Given the description of an element on the screen output the (x, y) to click on. 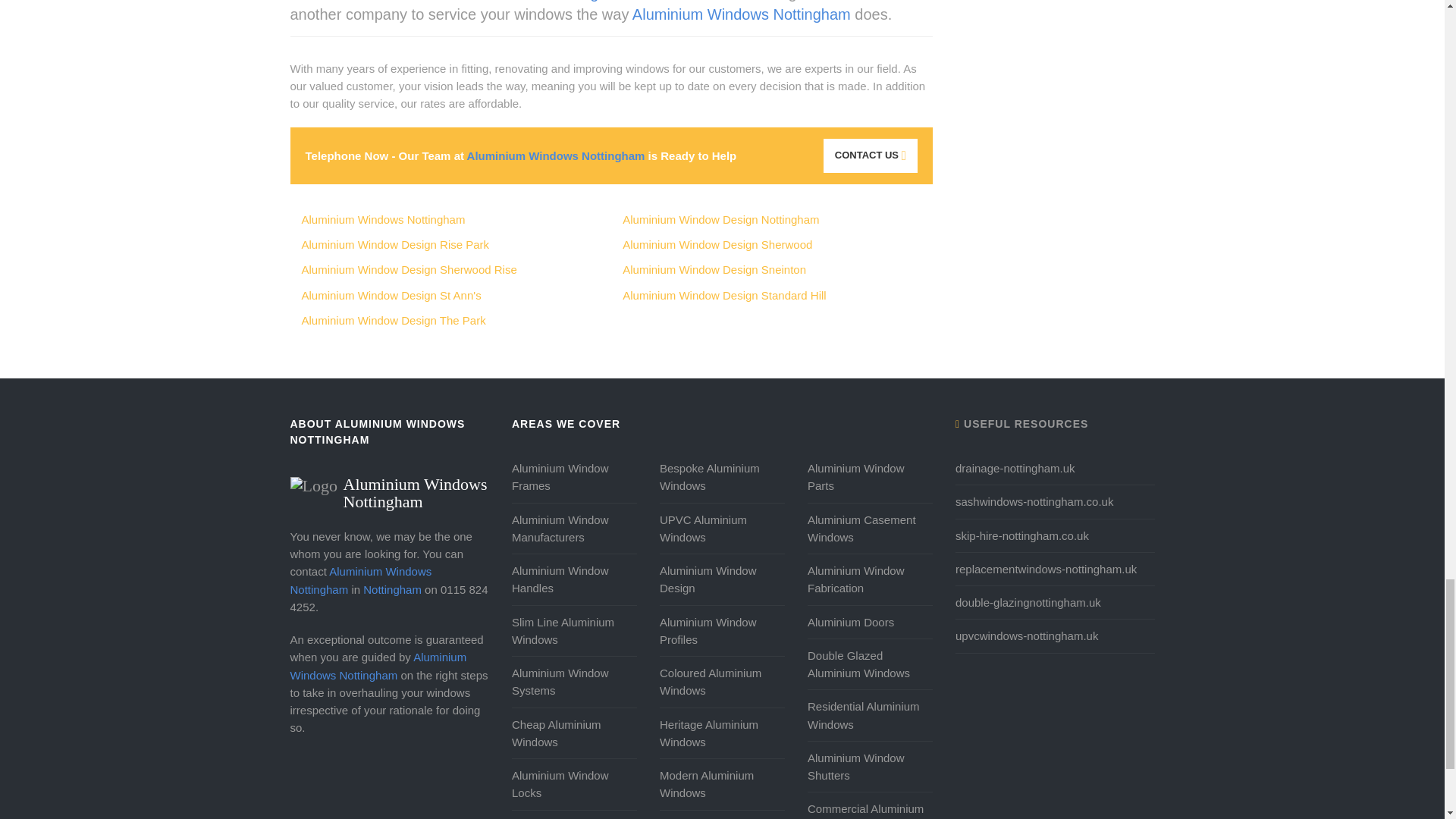
Aluminium Windows Nottingham (389, 485)
